Given the description of an element on the screen output the (x, y) to click on. 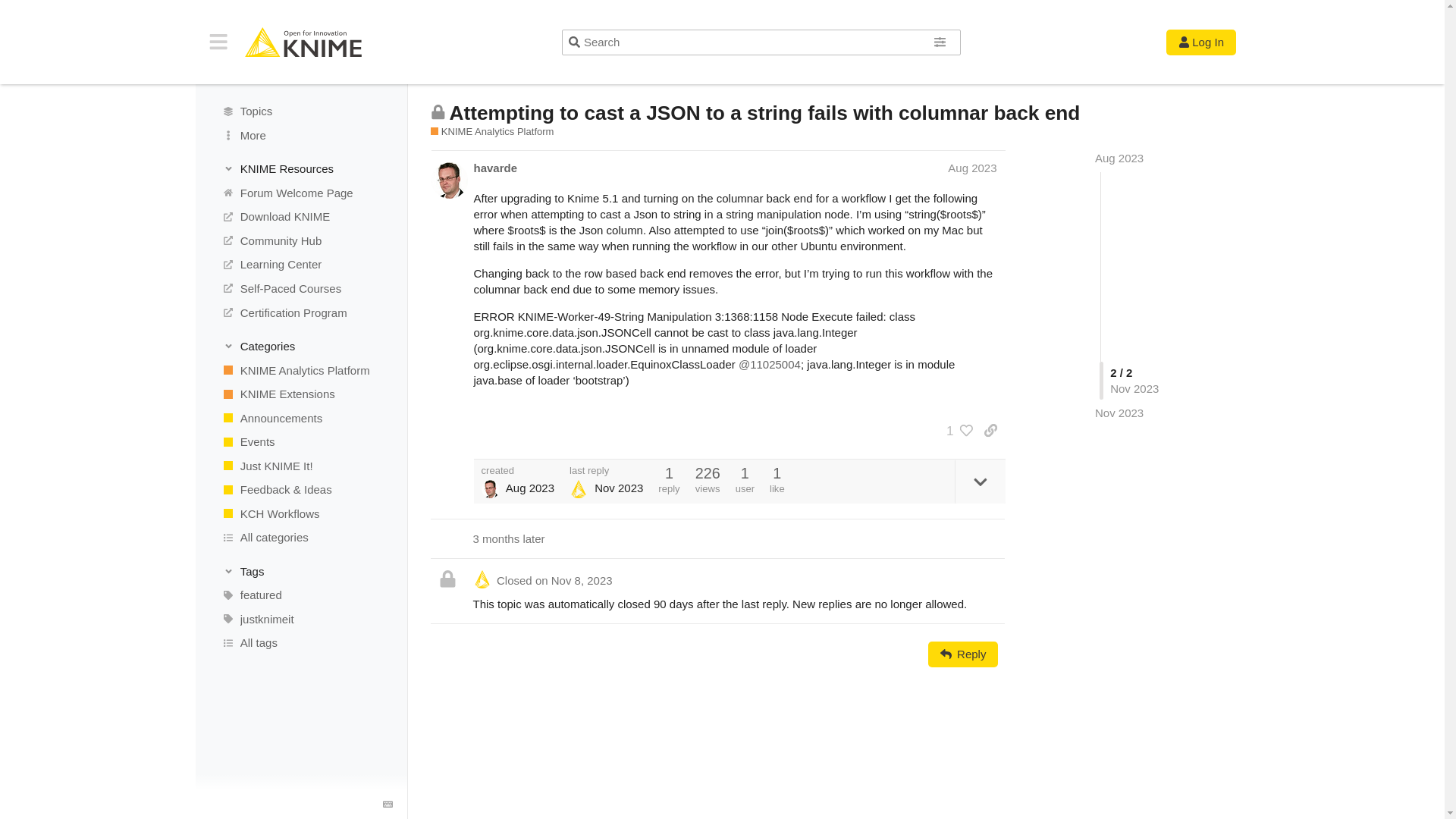
Tags (301, 570)
Keyboard Shortcuts (387, 805)
Categories (301, 346)
KNIME Analytics Platform (492, 131)
KNIME Extensions (300, 394)
All categories (300, 537)
featured (300, 595)
Topics (300, 111)
1 (955, 430)
Aug 2023 (1118, 157)
Forum Welcome Page (300, 192)
Open advanced search (940, 42)
More (300, 135)
KNIME Analytics Platform (300, 369)
